Given the description of an element on the screen output the (x, y) to click on. 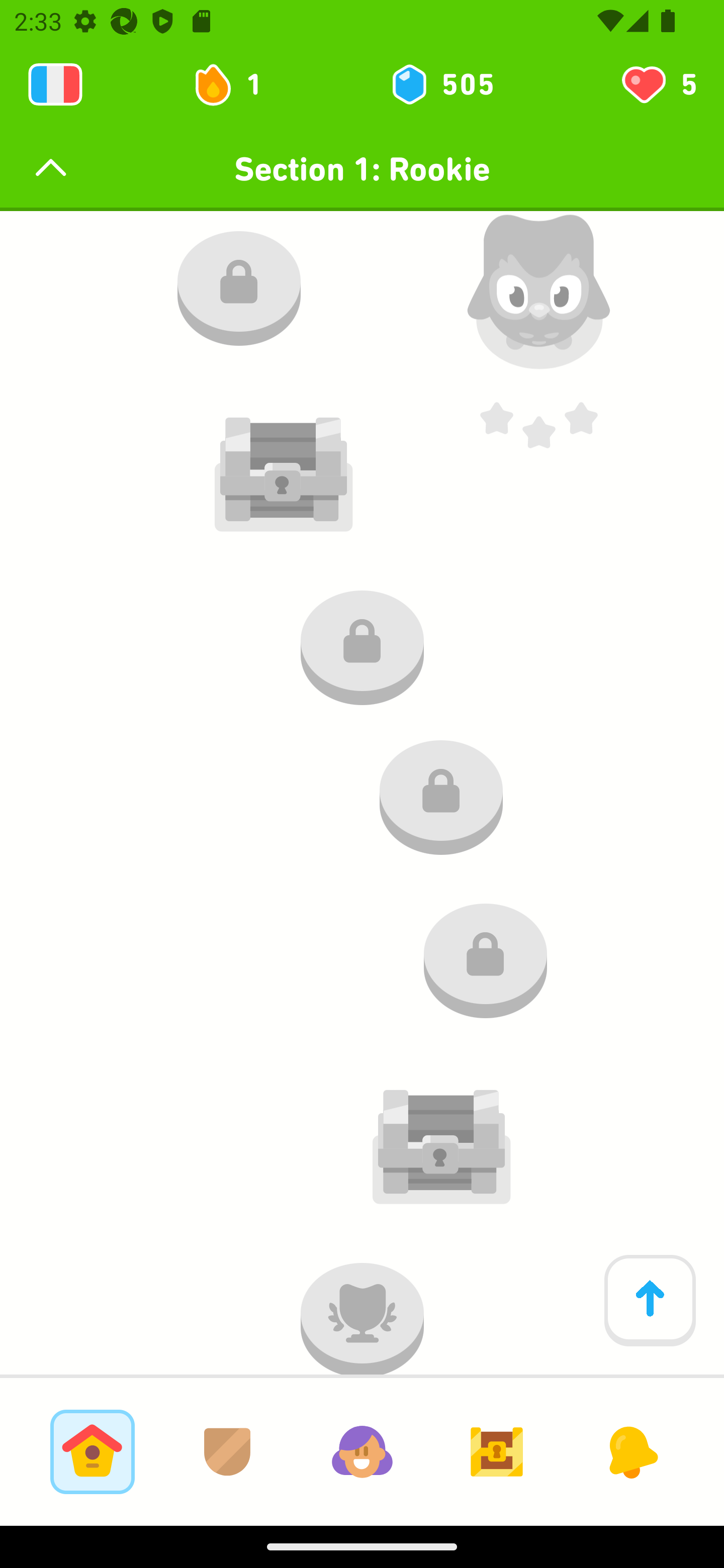
Learning 2131888976 (55, 84)
1 day streak 1 (236, 84)
505 (441, 84)
You have 5 hearts left 5 (657, 84)
Section 1: Rookie (362, 169)
Learn Tab (91, 1451)
Leagues Tab (227, 1451)
Profile Tab (361, 1451)
Goals Tab (496, 1451)
News Tab (631, 1451)
